Given the description of an element on the screen output the (x, y) to click on. 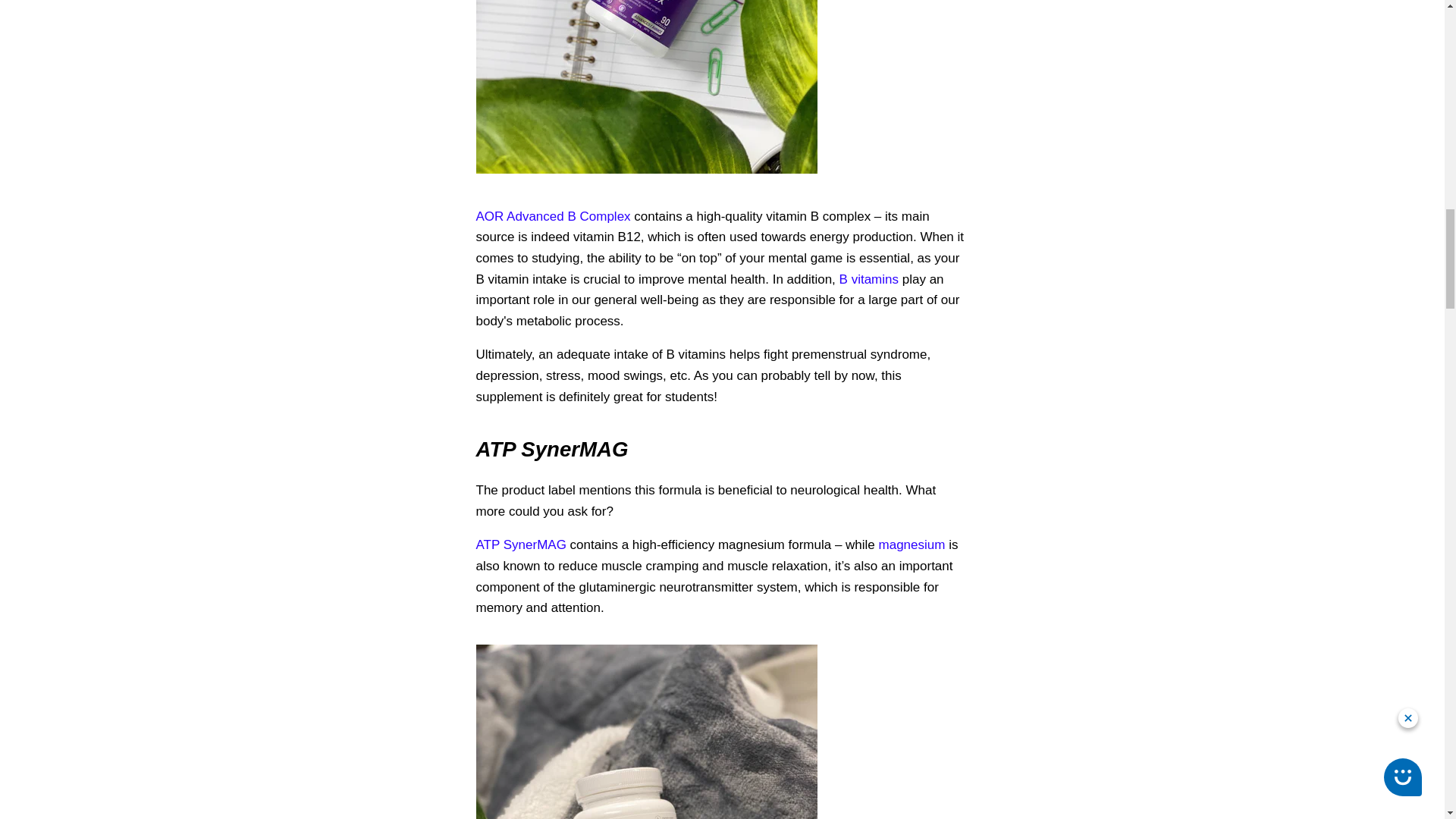
AOR Advanced B Complex (553, 216)
Magnesium (911, 544)
ATP SynerMag (521, 544)
B vitamins  (869, 278)
